Given the description of an element on the screen output the (x, y) to click on. 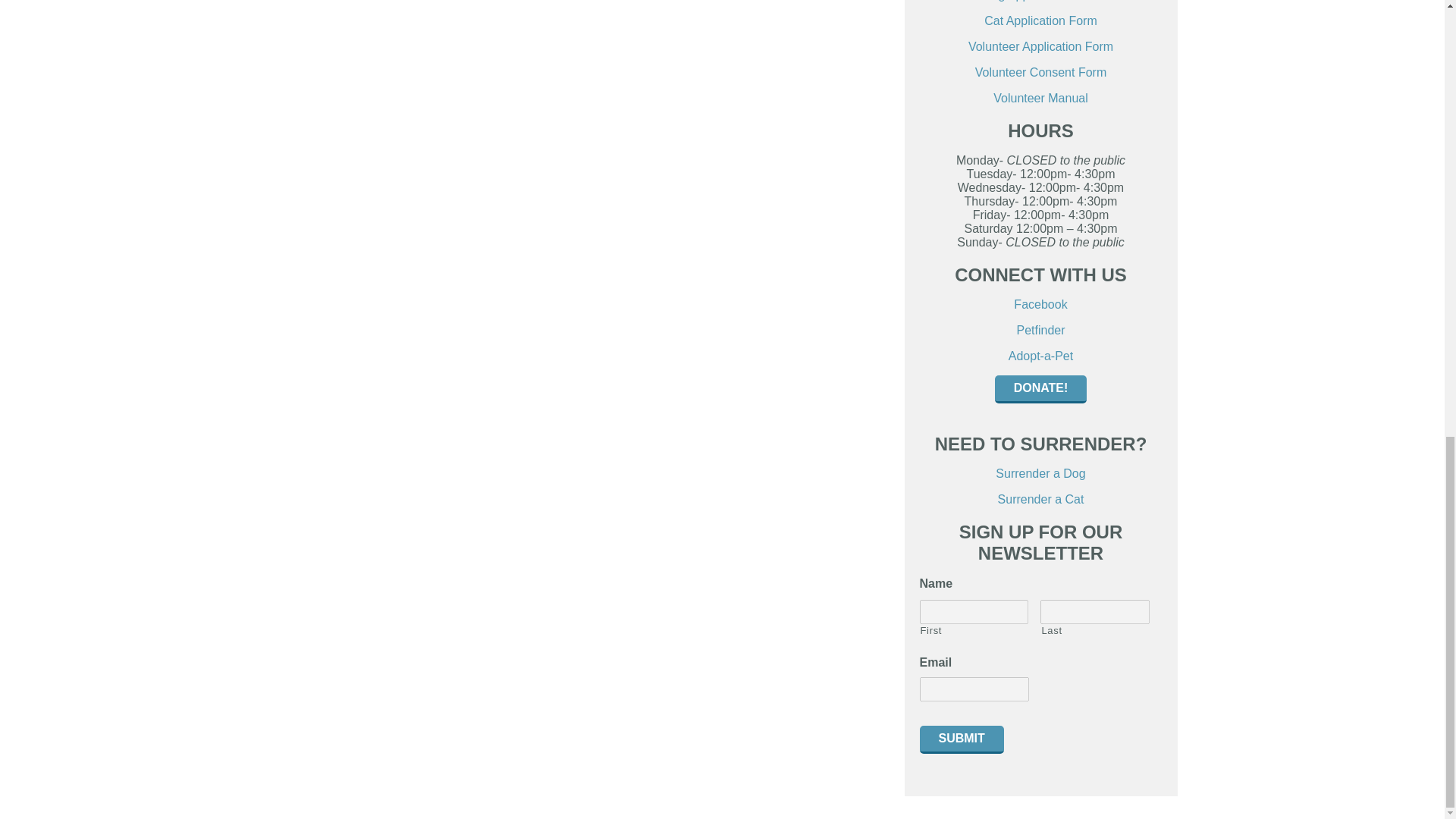
Submit (960, 739)
